Given the description of an element on the screen output the (x, y) to click on. 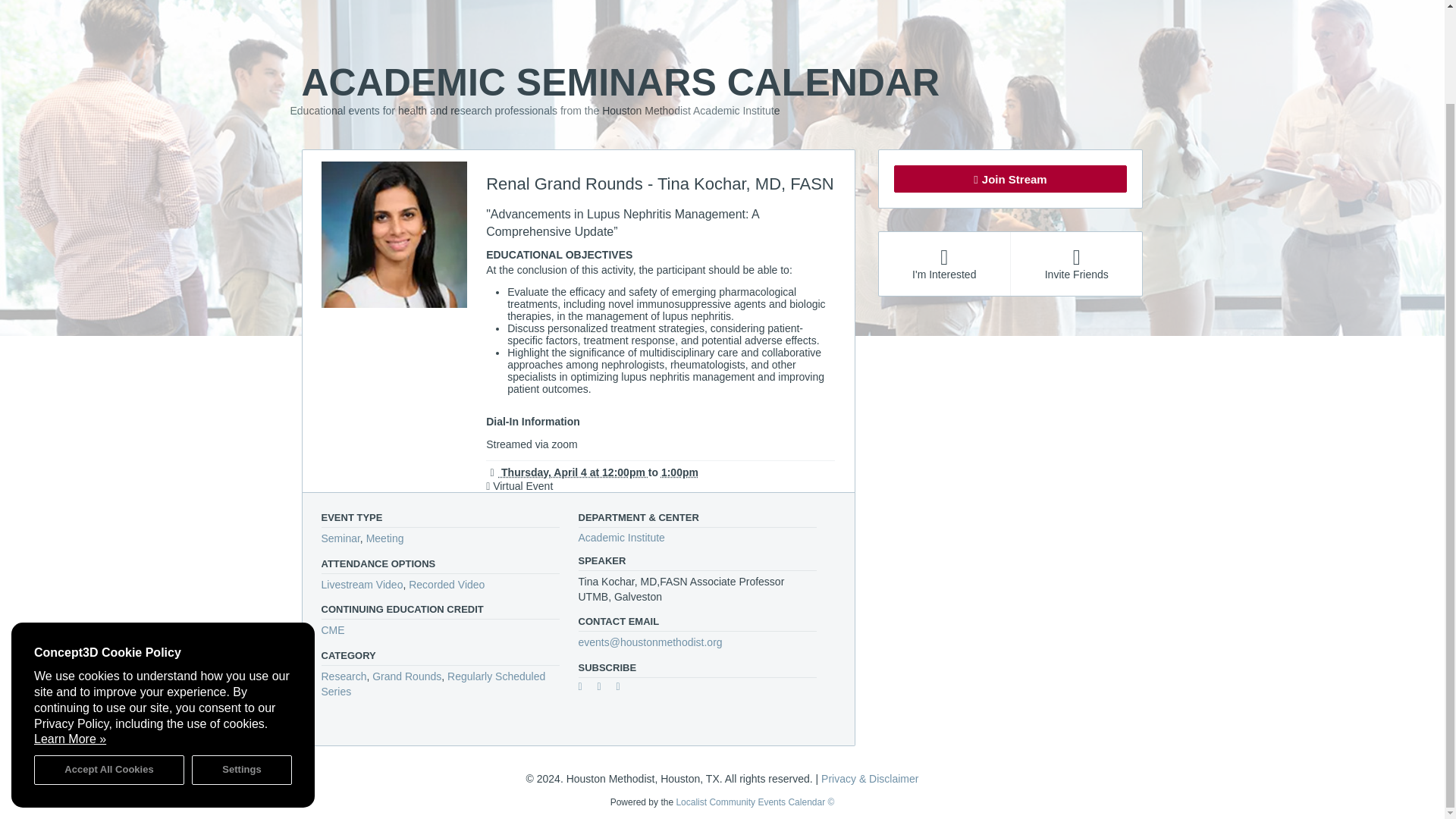
2024-04-04T13:00:00-05:00 (679, 472)
Save to Outlook (622, 688)
Invite Friends (1075, 263)
Livestream Video (362, 584)
Accept All Cookies (108, 662)
Google Calendar (585, 688)
Join Stream (1009, 178)
Recorded Video (446, 584)
Save to iCal (604, 688)
2024-04-04T12:00:00-05:00 (566, 472)
Settings (242, 662)
Meeting (385, 538)
I'm Interested (943, 263)
CME (333, 630)
Seminar (340, 538)
